Given the description of an element on the screen output the (x, y) to click on. 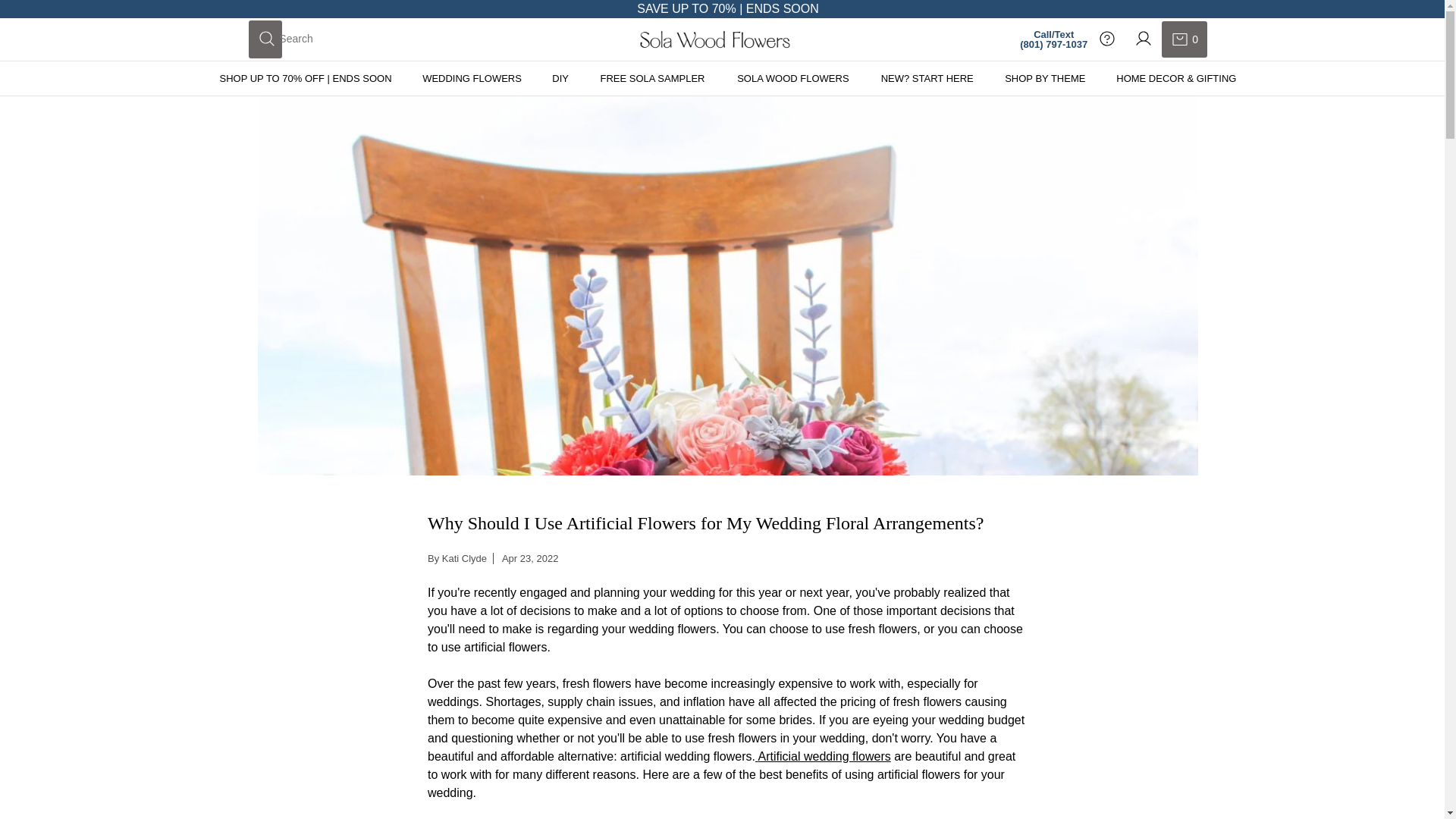
View Homepage (714, 39)
Sola Wood Flowers logo (714, 39)
WEDDING FLOWERS (1184, 39)
Contact Us (472, 78)
DIY (1107, 39)
Log in (560, 78)
